Given the description of an element on the screen output the (x, y) to click on. 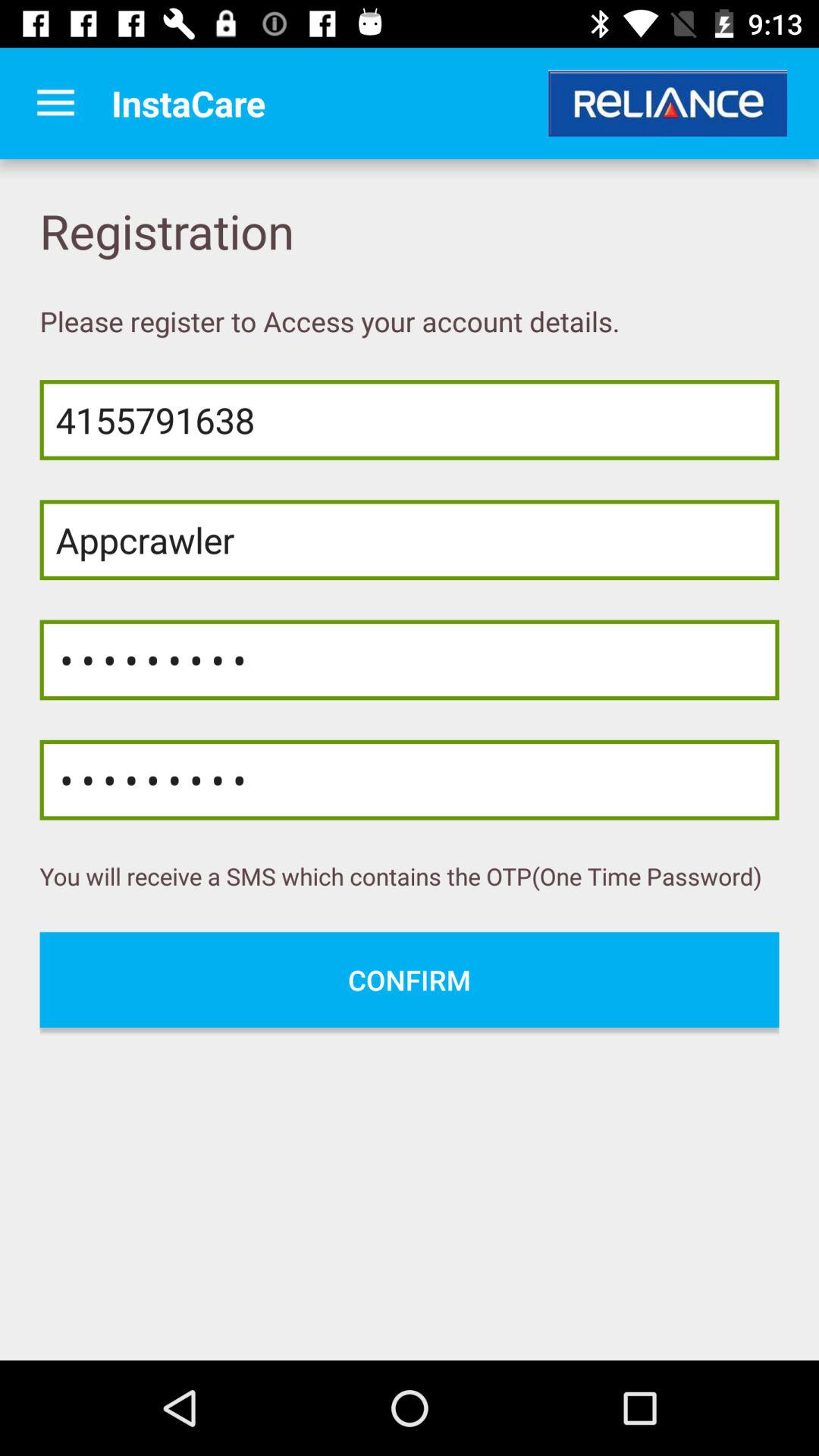
tap the item above the crowd3116 (409, 539)
